Given the description of an element on the screen output the (x, y) to click on. 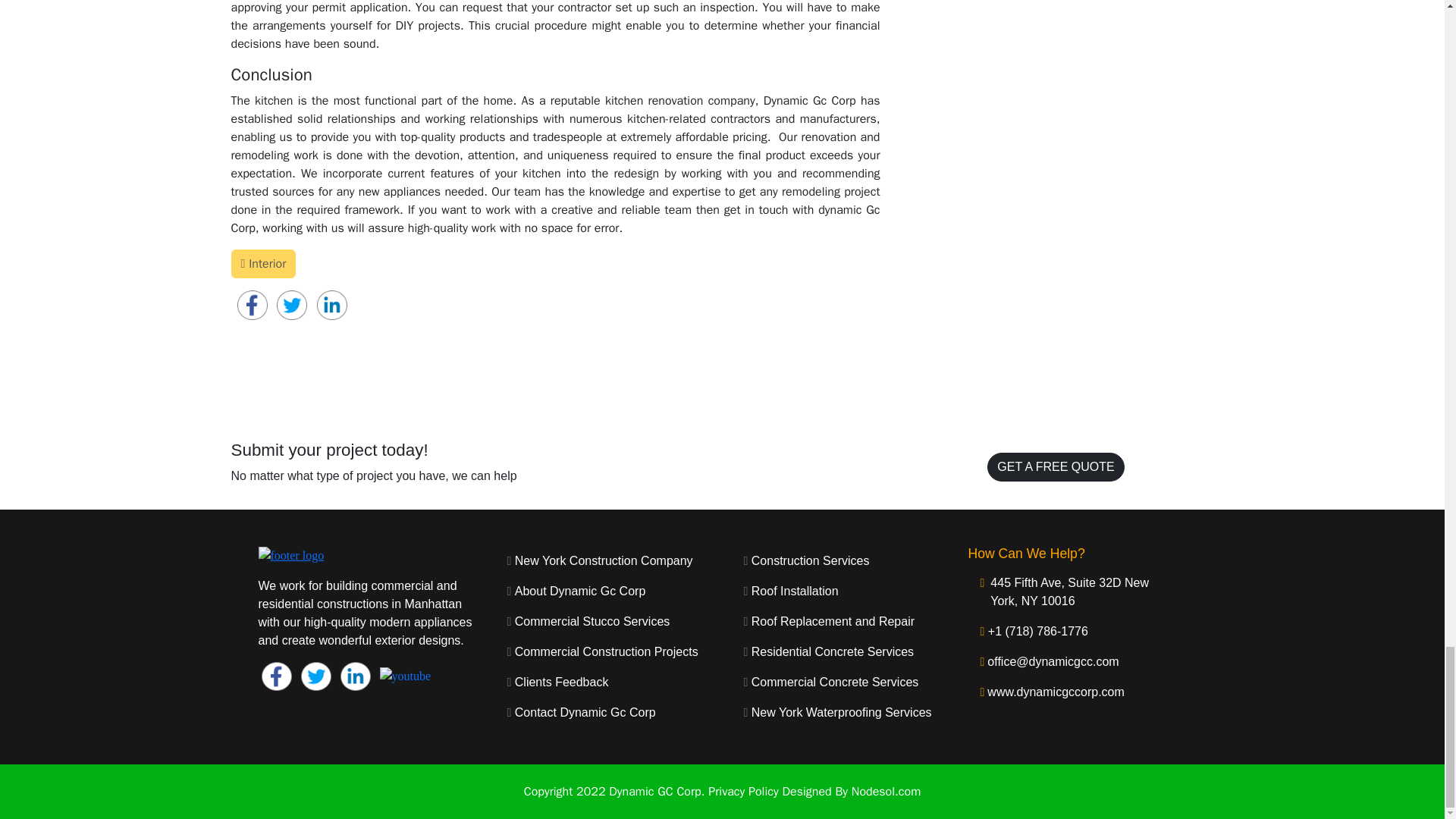
Interior (262, 263)
Share on Facebook (332, 303)
Share on Facebook (293, 303)
Share on Facebook (252, 303)
Kitchen Remodeling (286, 343)
